Given the description of an element on the screen output the (x, y) to click on. 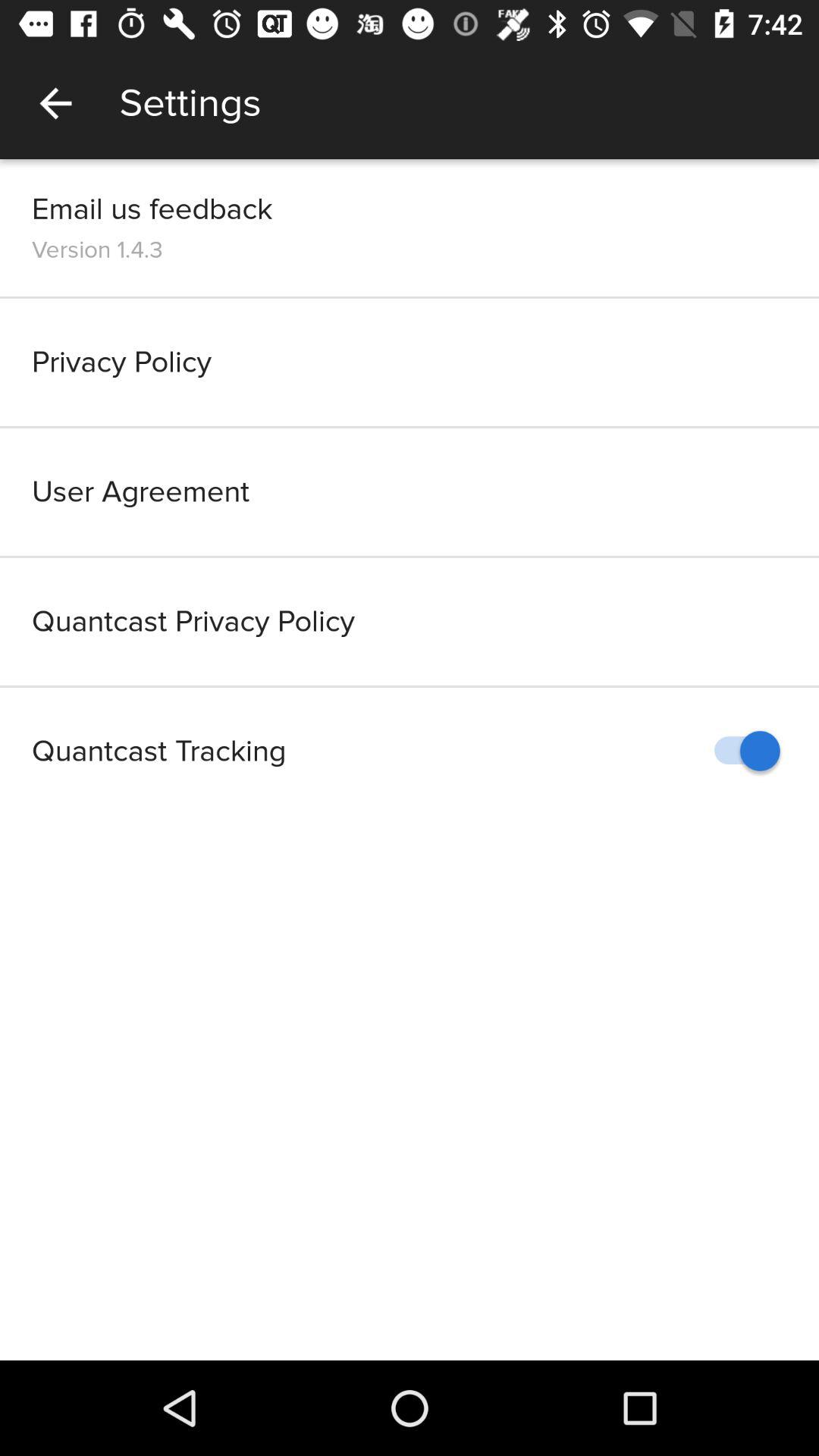
click user agreement icon (409, 491)
